Given the description of an element on the screen output the (x, y) to click on. 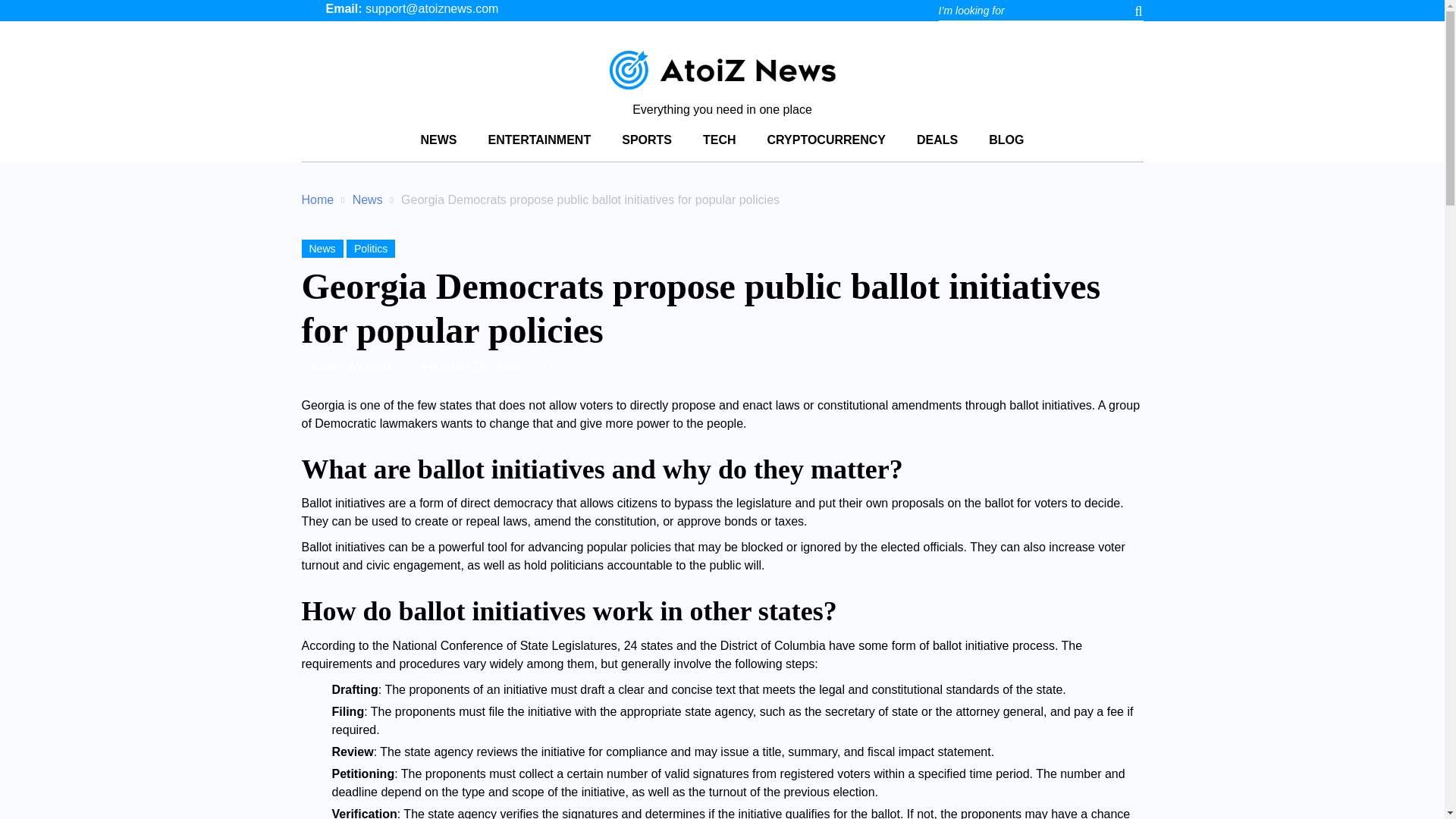
ENTERTAINMENT (539, 143)
Home (317, 198)
News (367, 198)
CRYPTOCURRENCY (826, 143)
SPORTS (646, 143)
BLOG (1005, 143)
NEWS (438, 143)
News (367, 198)
February 20, 2024 (471, 366)
Home (317, 198)
